Given the description of an element on the screen output the (x, y) to click on. 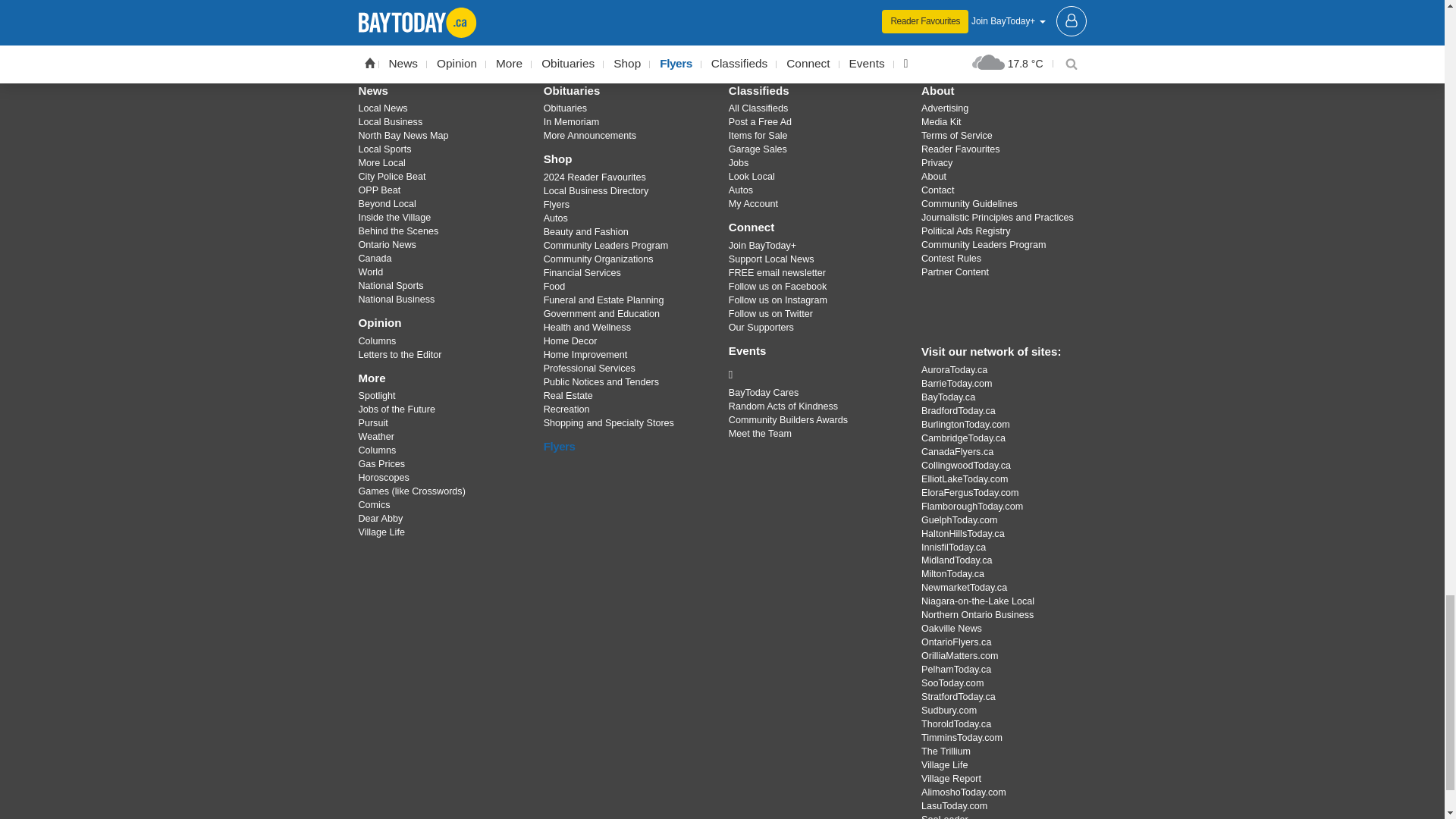
X (721, 36)
Instagram (760, 36)
BayToday Cares (813, 374)
Facebook (683, 36)
